Given the description of an element on the screen output the (x, y) to click on. 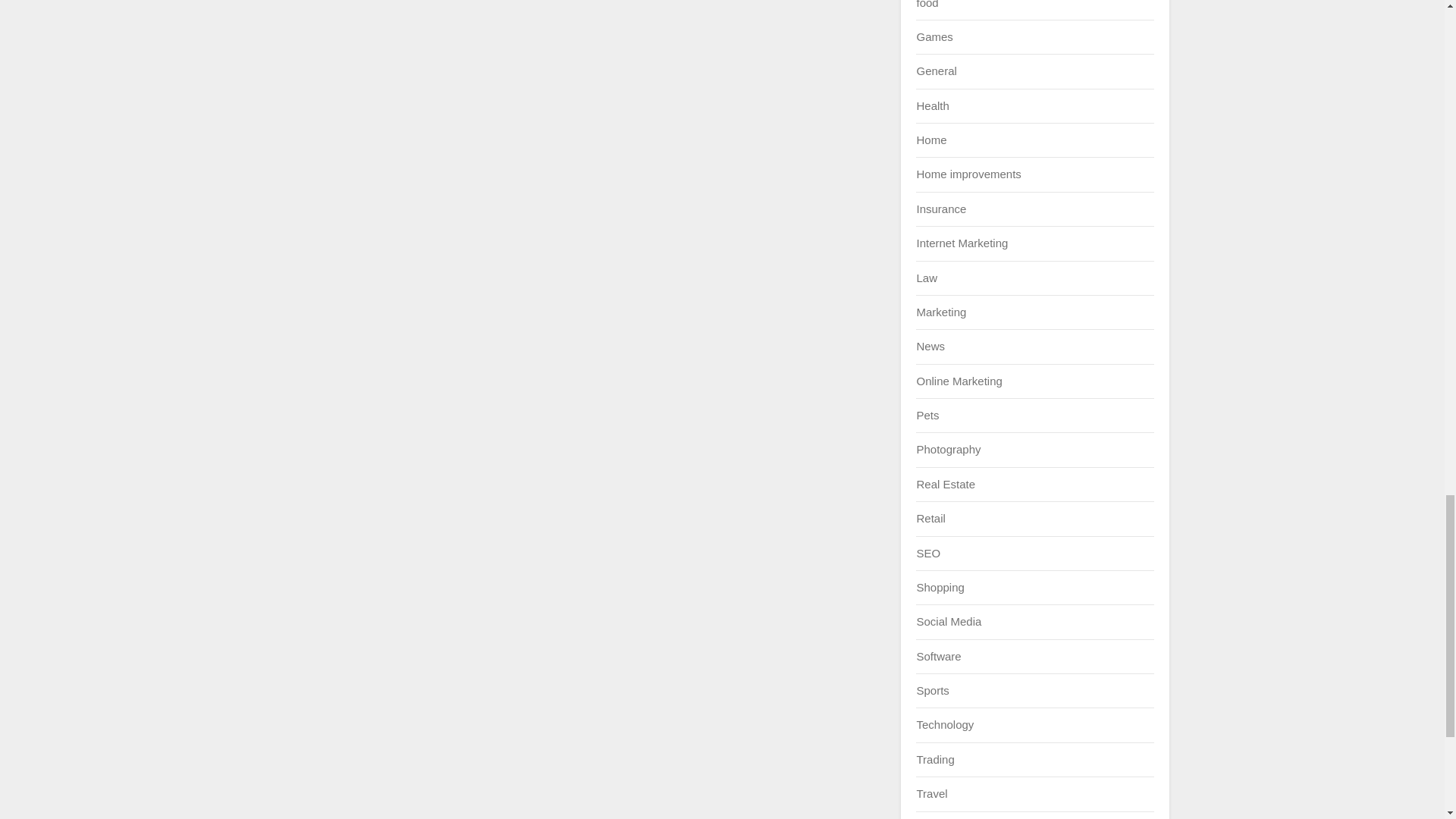
Games (933, 36)
Home improvements (967, 173)
food (926, 4)
General (935, 70)
Home (930, 139)
Health (932, 105)
